Given the description of an element on the screen output the (x, y) to click on. 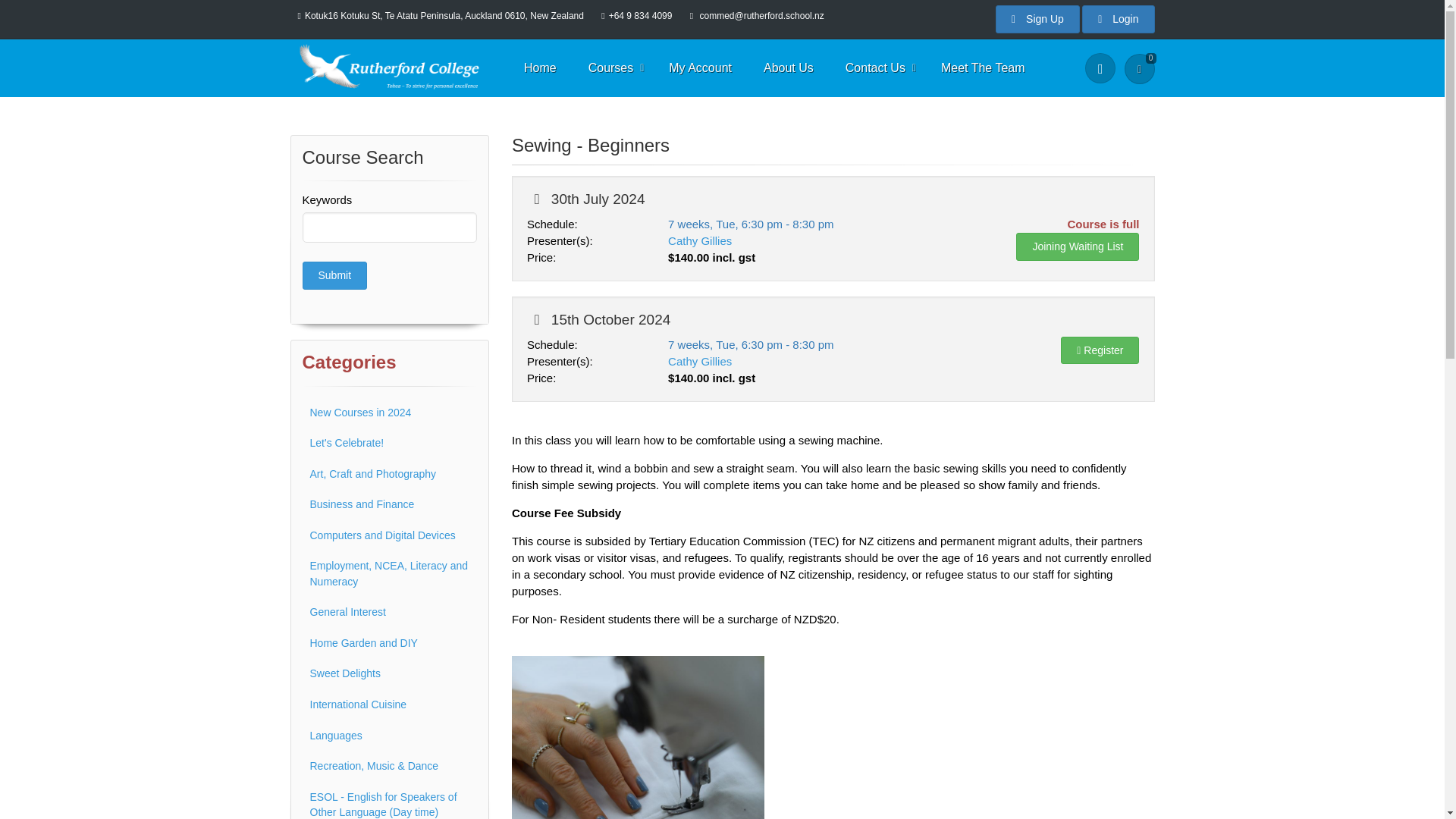
Courses (612, 68)
Sign Up (1037, 18)
About Us (788, 68)
Submit (333, 275)
0 (1139, 69)
My Account (700, 68)
Contact Us (876, 68)
New Courses in 2024 (389, 412)
Home (540, 68)
Meet The Team (982, 68)
Login (1117, 18)
